Given the description of an element on the screen output the (x, y) to click on. 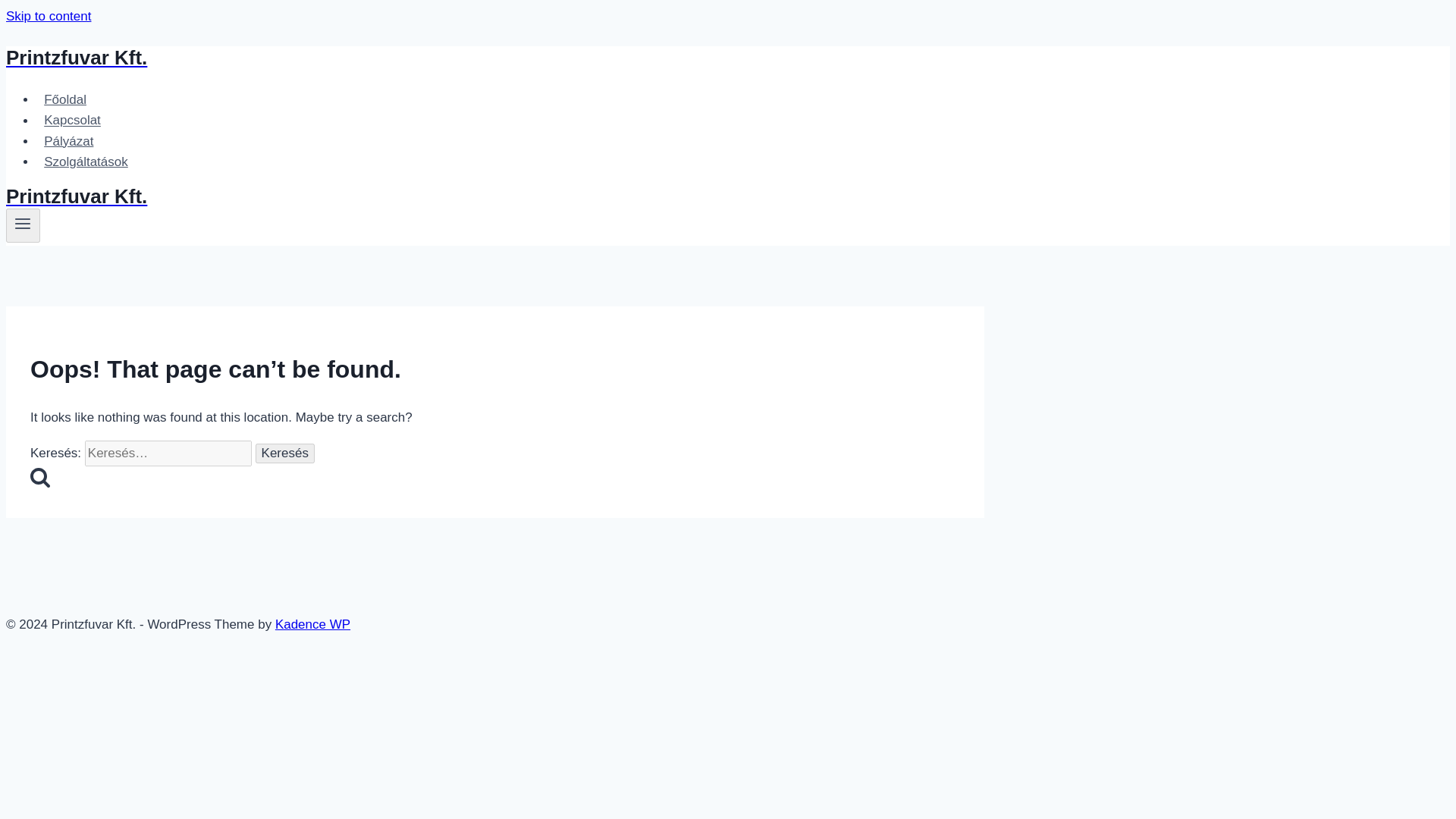
Search (39, 476)
Printzfuvar Kft. (494, 196)
Kadence WP (312, 624)
Kapcsolat (71, 120)
Toggle Menu (22, 223)
Skip to content (47, 16)
Toggle Menu (22, 224)
Skip to content (47, 16)
Printzfuvar Kft. (494, 57)
